Given the description of an element on the screen output the (x, y) to click on. 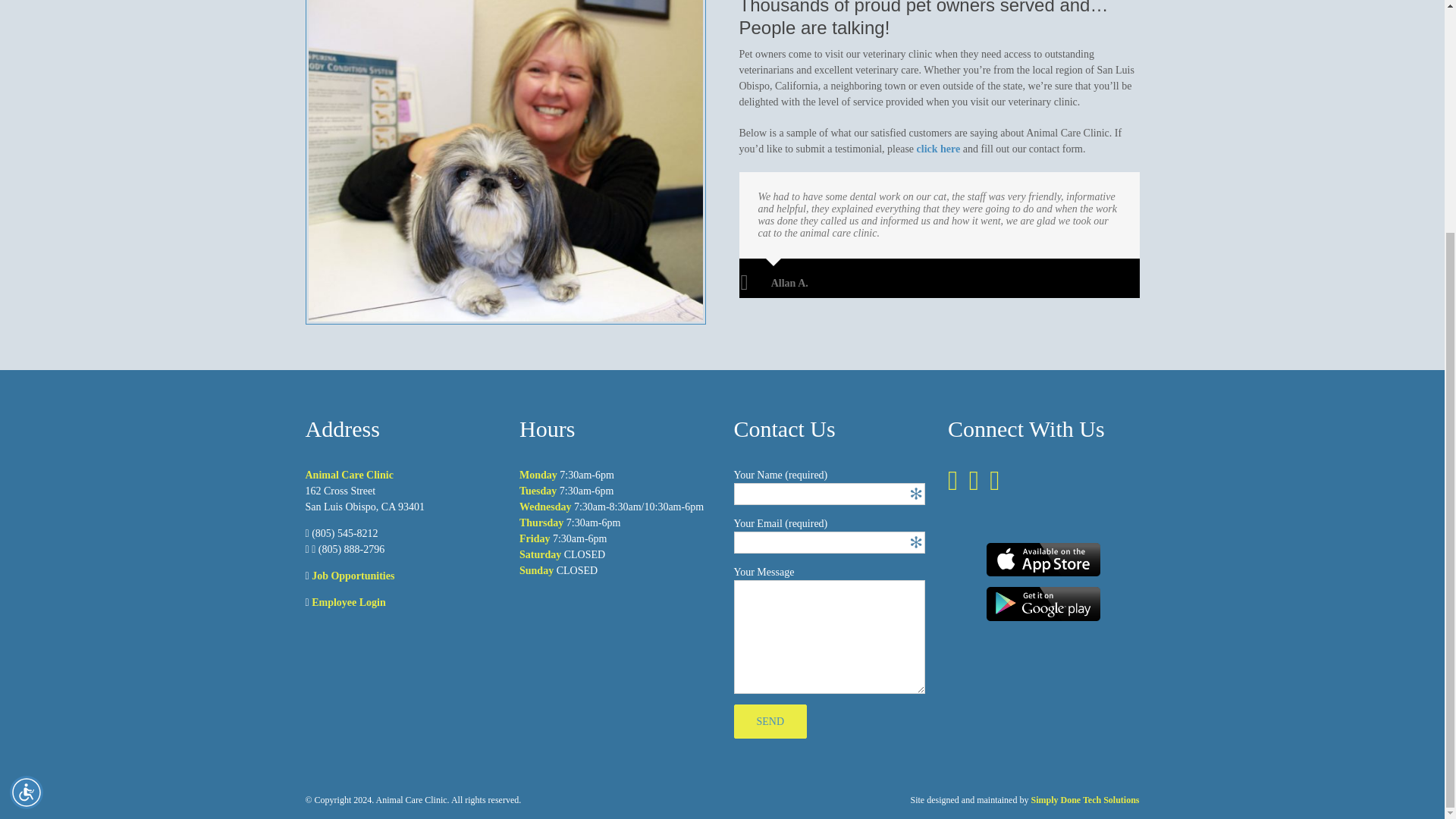
Send (770, 721)
Accessibility Menu (26, 476)
client-and-little-dog (504, 162)
